Given the description of an element on the screen output the (x, y) to click on. 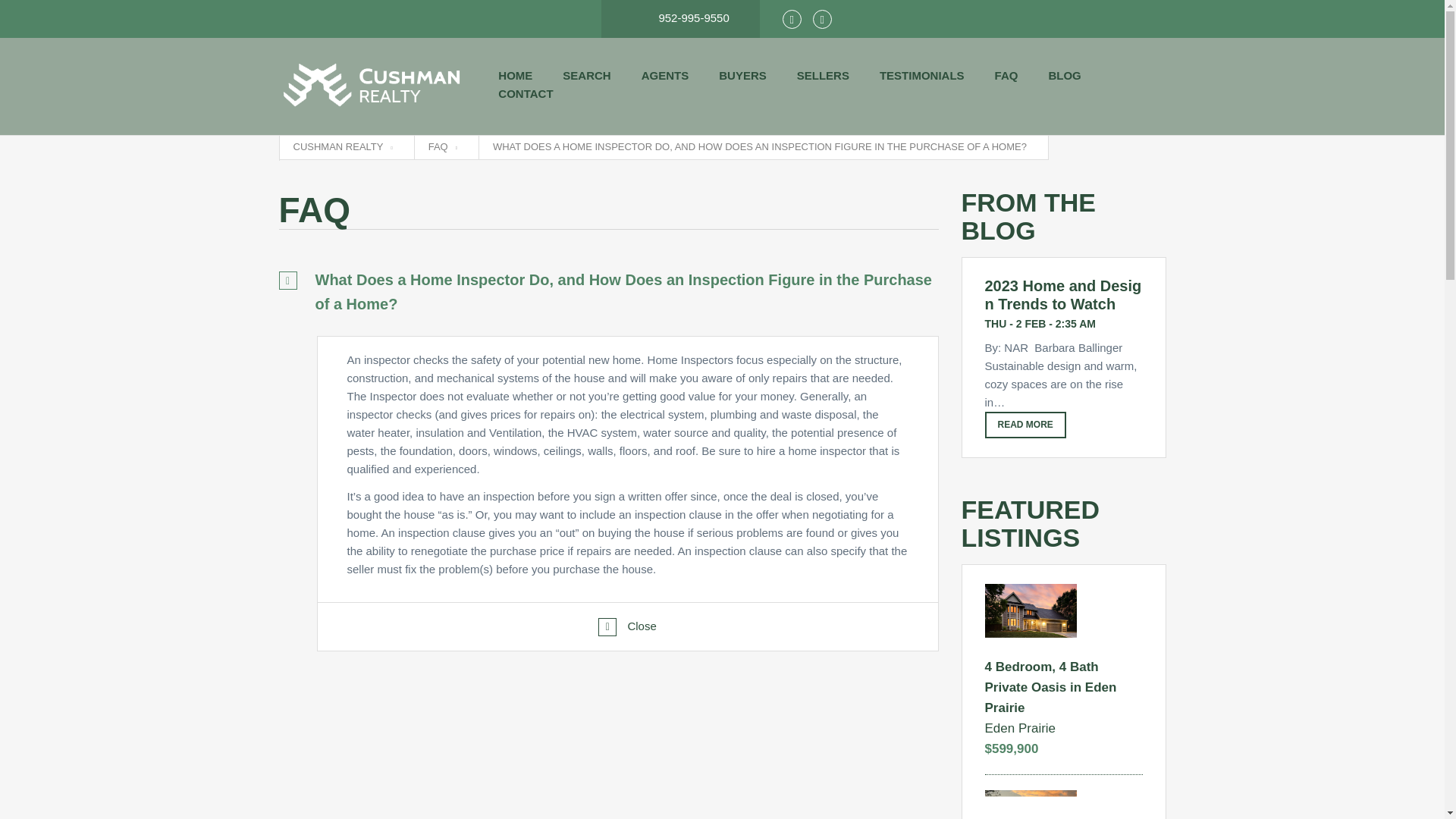
CONTACT (525, 94)
Go to Cushman Realty. (341, 147)
SELLERS (822, 75)
FAQ (1005, 75)
BUYERS (743, 75)
BLOG (1064, 75)
2023 Home and Design Trends to Watch (1062, 294)
952-995-9550 (680, 11)
CUSHMAN REALTY (341, 147)
FAQ (442, 147)
Go to FAQ. (442, 147)
READ MORE (1024, 424)
Close (627, 625)
Cushman Realty (373, 86)
